Given the description of an element on the screen output the (x, y) to click on. 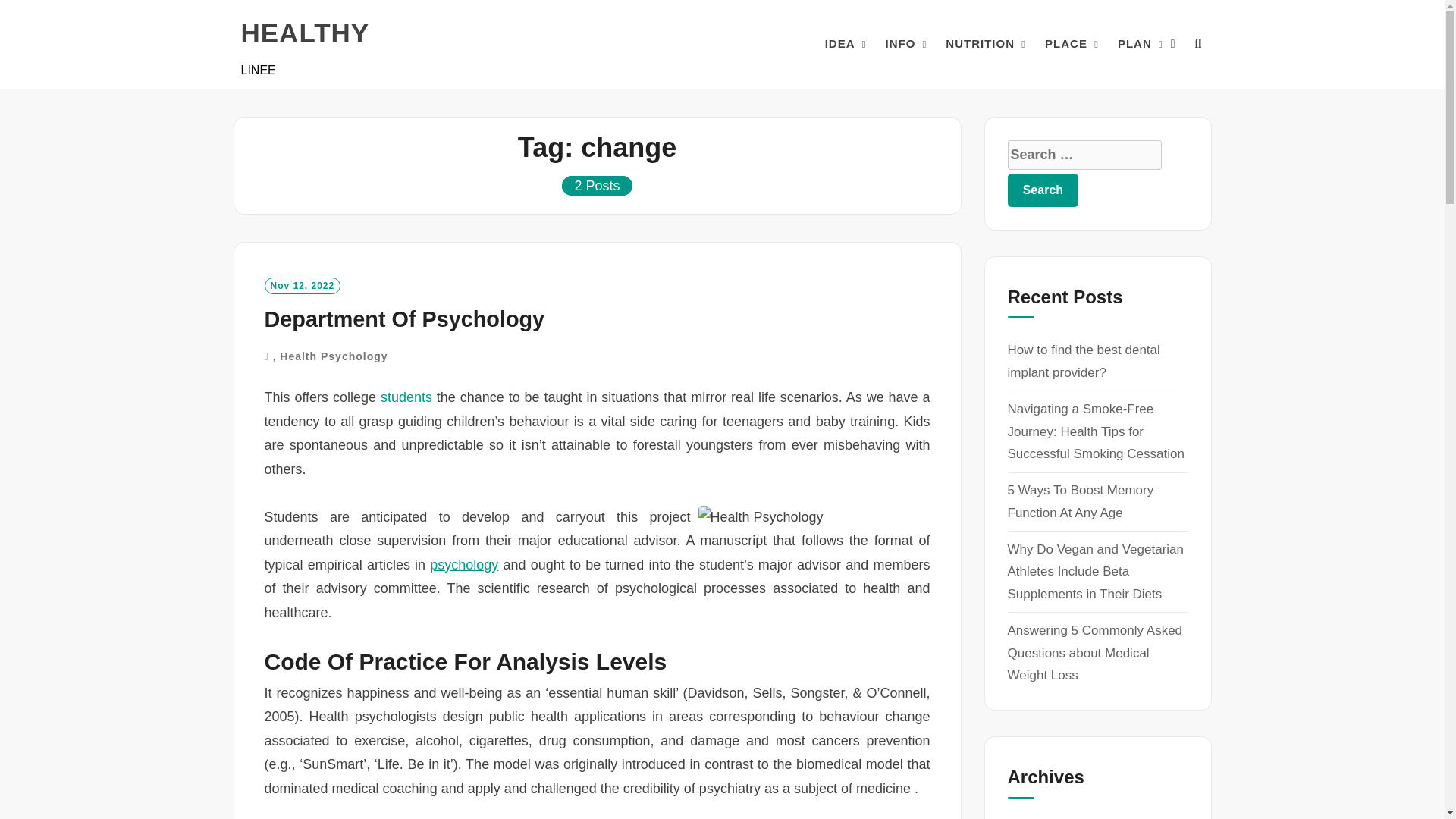
PLAN (1134, 44)
Nov 12, 2022 (301, 285)
psychology (463, 564)
Search (1042, 190)
PLACE (1066, 44)
NUTRITION (979, 44)
Search (1042, 190)
Department Of Psychology (403, 319)
HEALTHY (305, 33)
students (406, 396)
Health Psychology (333, 356)
